Given the description of an element on the screen output the (x, y) to click on. 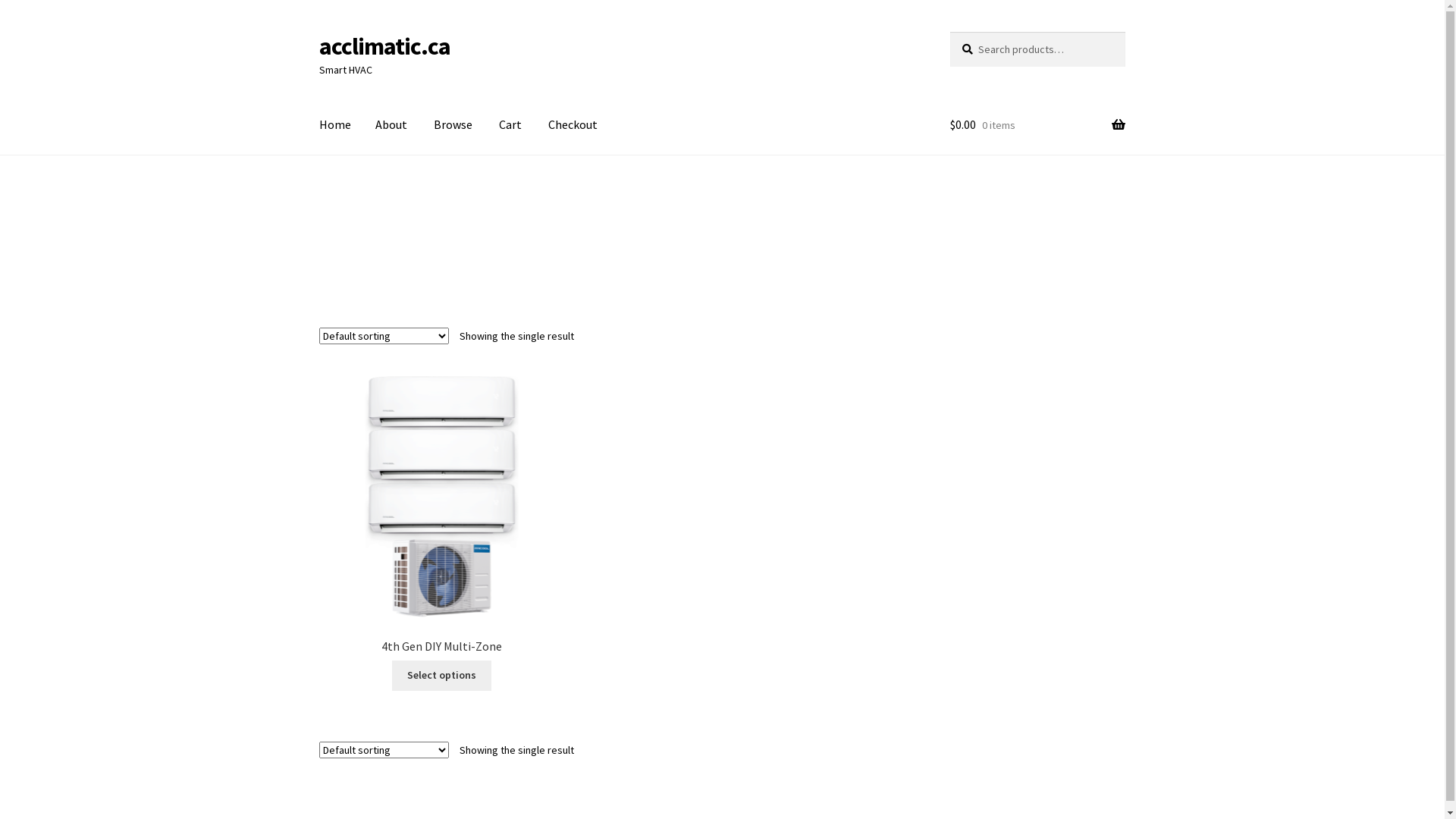
Cart Element type: text (509, 124)
4th Gen DIY Multi-Zone Element type: text (441, 514)
Home Element type: text (335, 124)
Select options Element type: text (441, 675)
Browse Element type: text (452, 124)
Search Element type: text (949, 31)
Skip to Navigation Element type: text (318, 31)
About Element type: text (391, 124)
Checkout Element type: text (572, 124)
acclimatic.ca Element type: text (384, 46)
$0.00 0 items Element type: text (1037, 124)
